Given the description of an element on the screen output the (x, y) to click on. 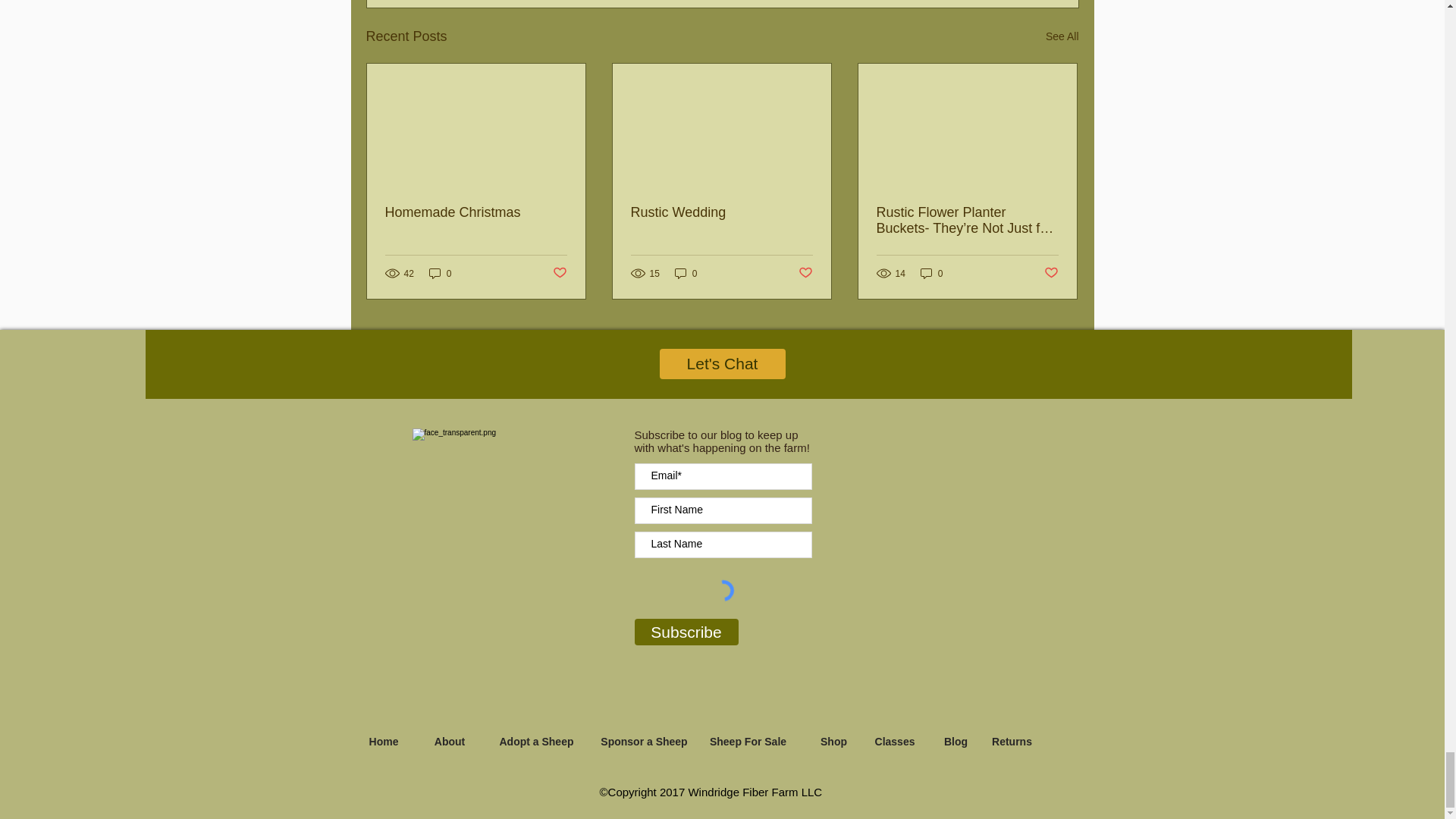
Facebook Like (956, 458)
See All (1061, 36)
